Given the description of an element on the screen output the (x, y) to click on. 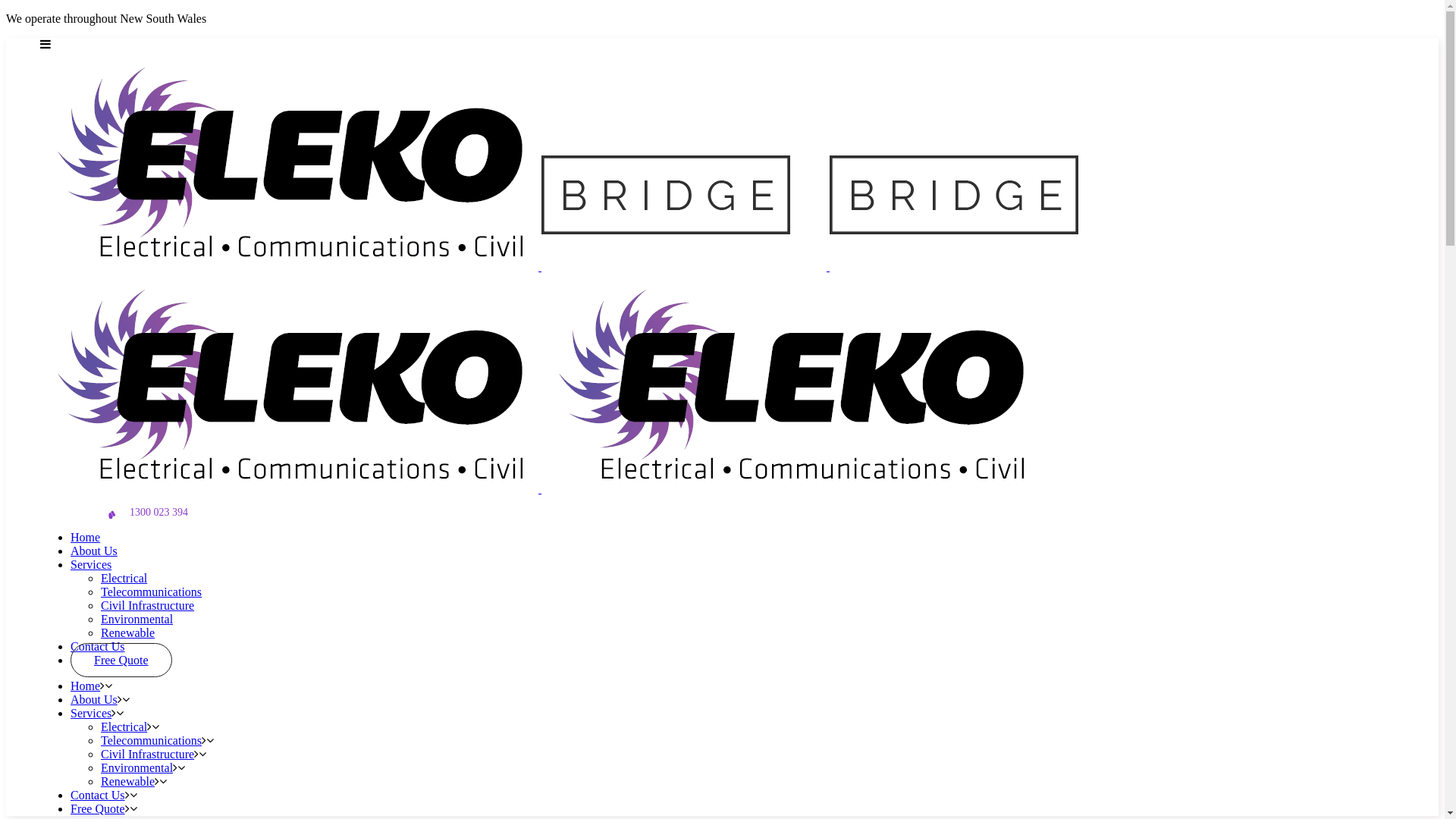
Home Element type: text (85, 685)
Services Element type: text (90, 712)
About Us Element type: text (93, 699)
Contact Us Element type: text (97, 646)
Contact Us Element type: text (97, 794)
Electrical Element type: text (123, 726)
Services Element type: text (90, 564)
Civil Infrastructure Element type: text (147, 753)
Renewable Element type: text (127, 632)
Free Quote Element type: text (97, 808)
Renewable Element type: text (127, 781)
Electrical Element type: text (123, 577)
Home Element type: text (85, 536)
Civil Infrastructure Element type: text (147, 605)
About Us Element type: text (93, 550)
Telecommunications Element type: text (150, 740)
Free Quote Element type: text (121, 659)
Environmental Element type: text (136, 767)
Environmental Element type: text (136, 618)
Telecommunications Element type: text (150, 591)
